Given the description of an element on the screen output the (x, y) to click on. 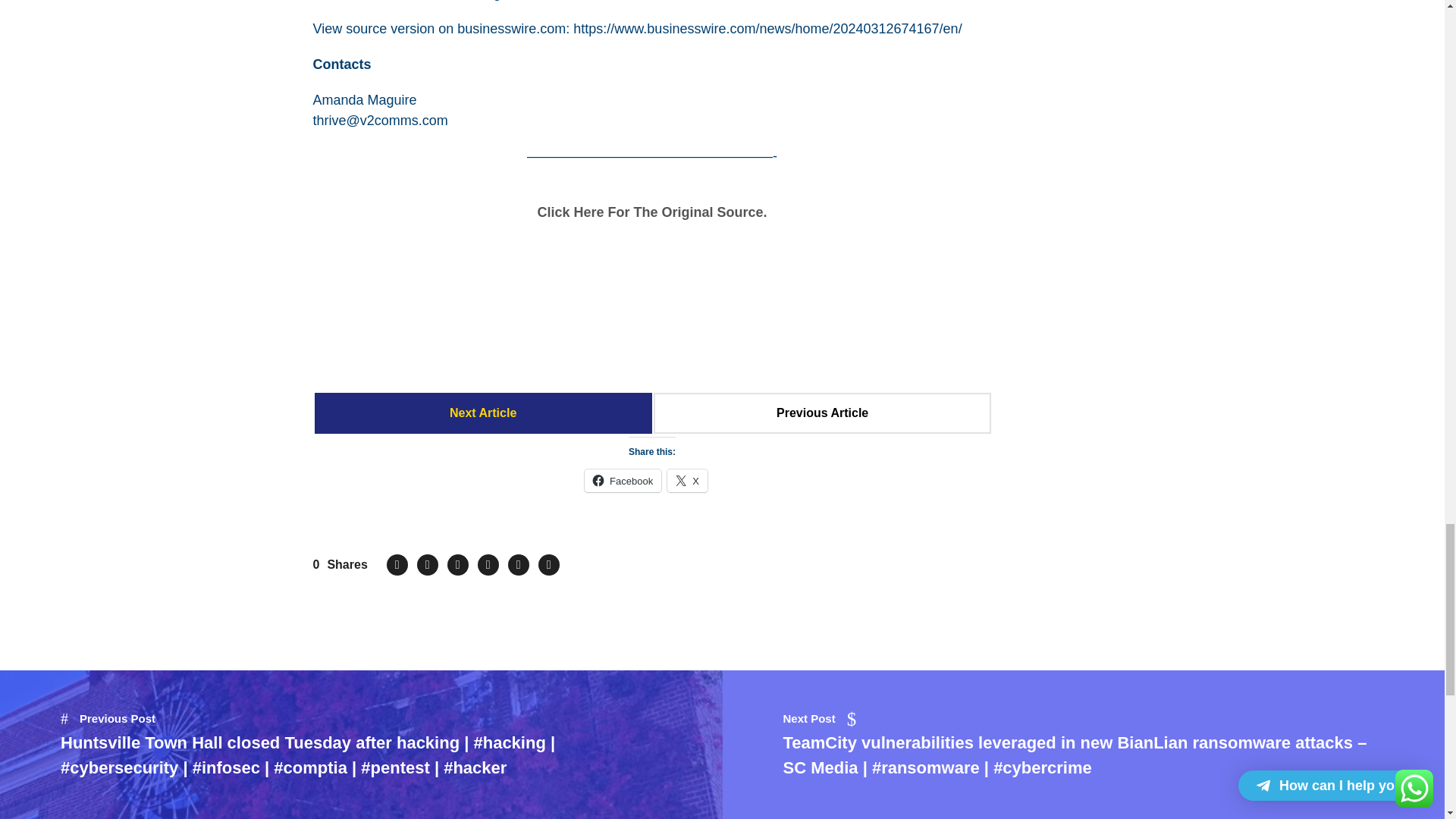
Advertisement (652, 313)
Click to share on Facebook (623, 480)
Click to share on X (686, 480)
